Given the description of an element on the screen output the (x, y) to click on. 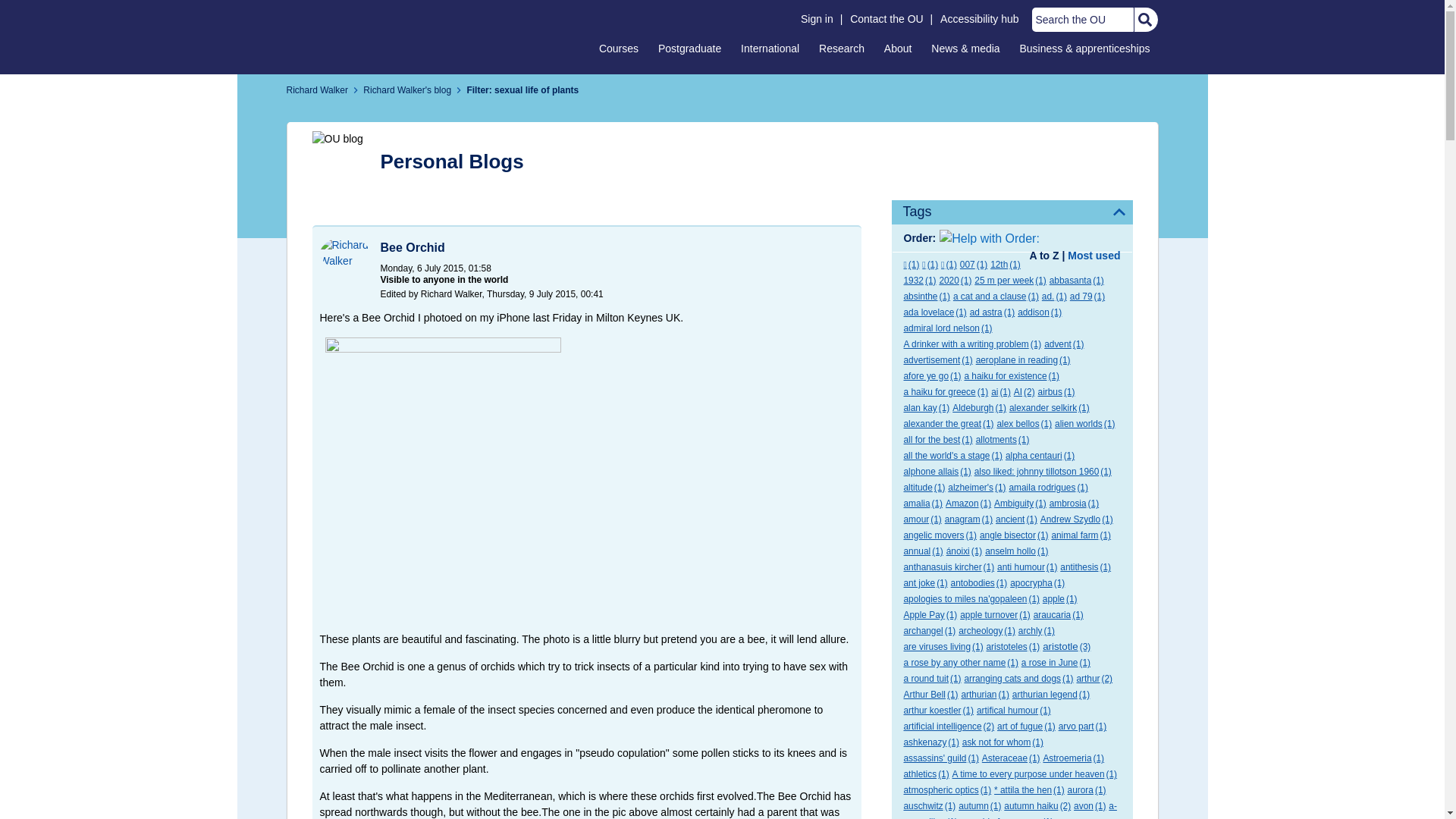
Search (1144, 19)
Sign in (816, 19)
The Open University (354, 36)
About (898, 48)
Search (1144, 19)
Contact the OU (886, 19)
Tags (1011, 211)
Research (841, 48)
